Given the description of an element on the screen output the (x, y) to click on. 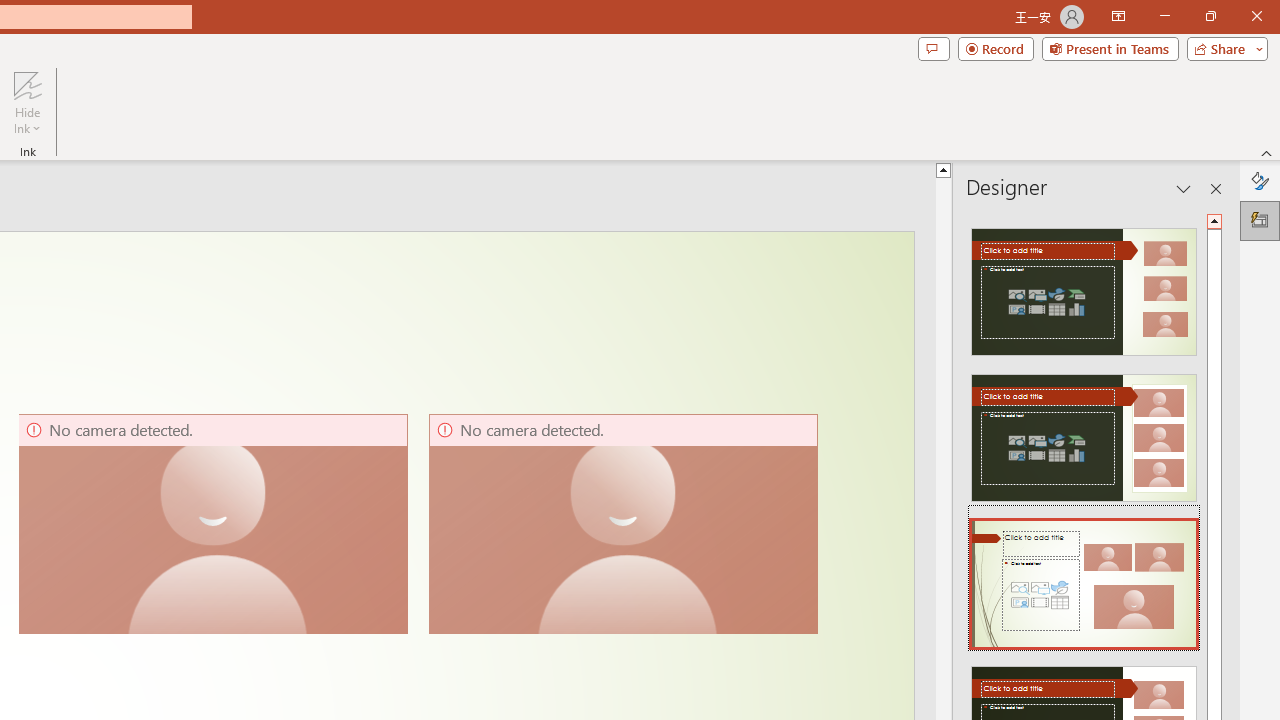
Camera 5, No camera detected. (212, 524)
Recommended Design: Design Idea (1083, 286)
Close pane (1215, 188)
Hide Ink (27, 102)
Camera 3, No camera detected. (623, 524)
